Given the description of an element on the screen output the (x, y) to click on. 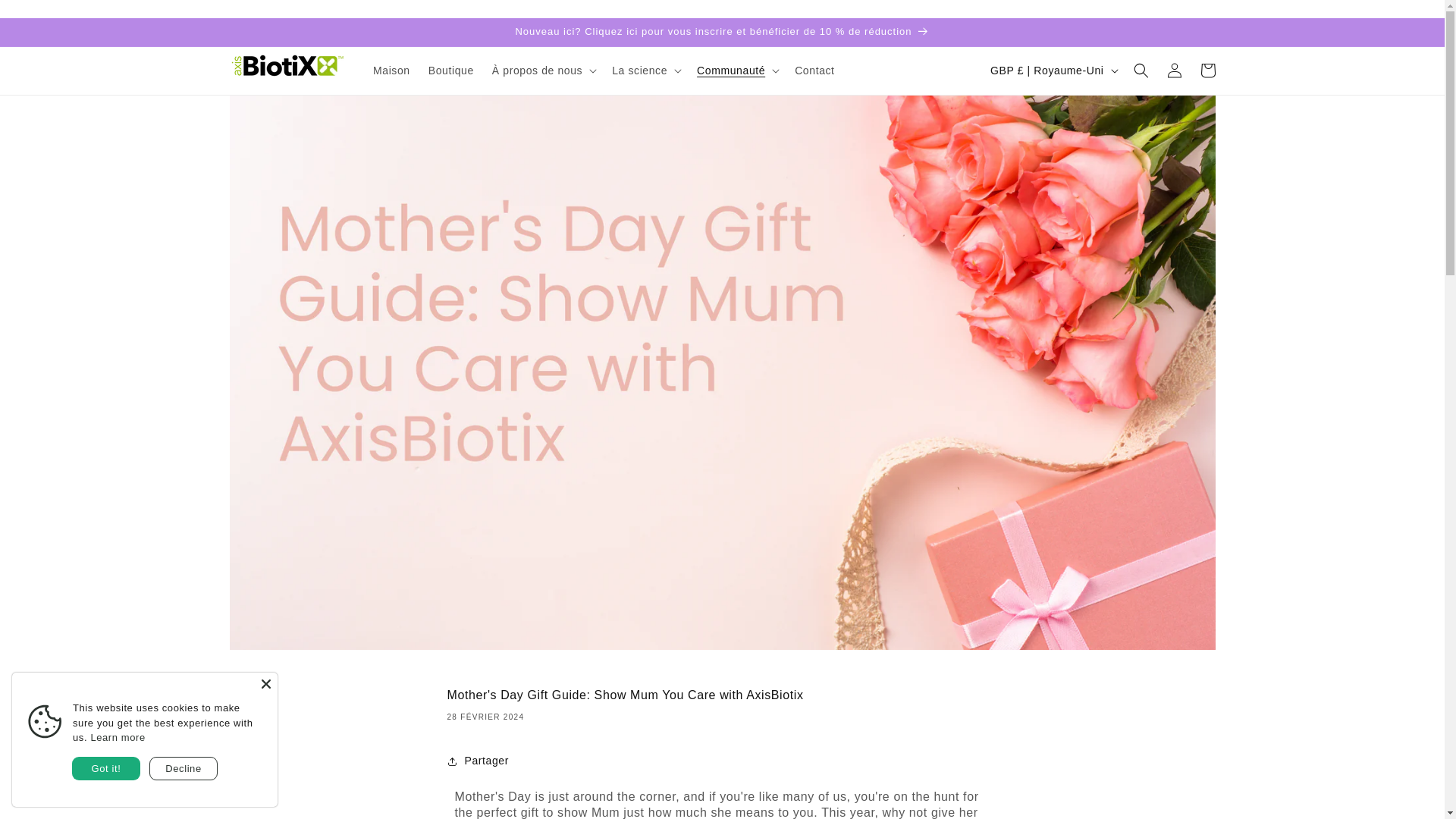
Boutique (451, 70)
Connexion (1174, 70)
Ignorer et passer au contenu (45, 17)
Maison (391, 70)
Opens a widget where you can chat to one of our agents (57, 792)
Contact (814, 70)
Panier (1207, 70)
Learn more (117, 737)
